Given the description of an element on the screen output the (x, y) to click on. 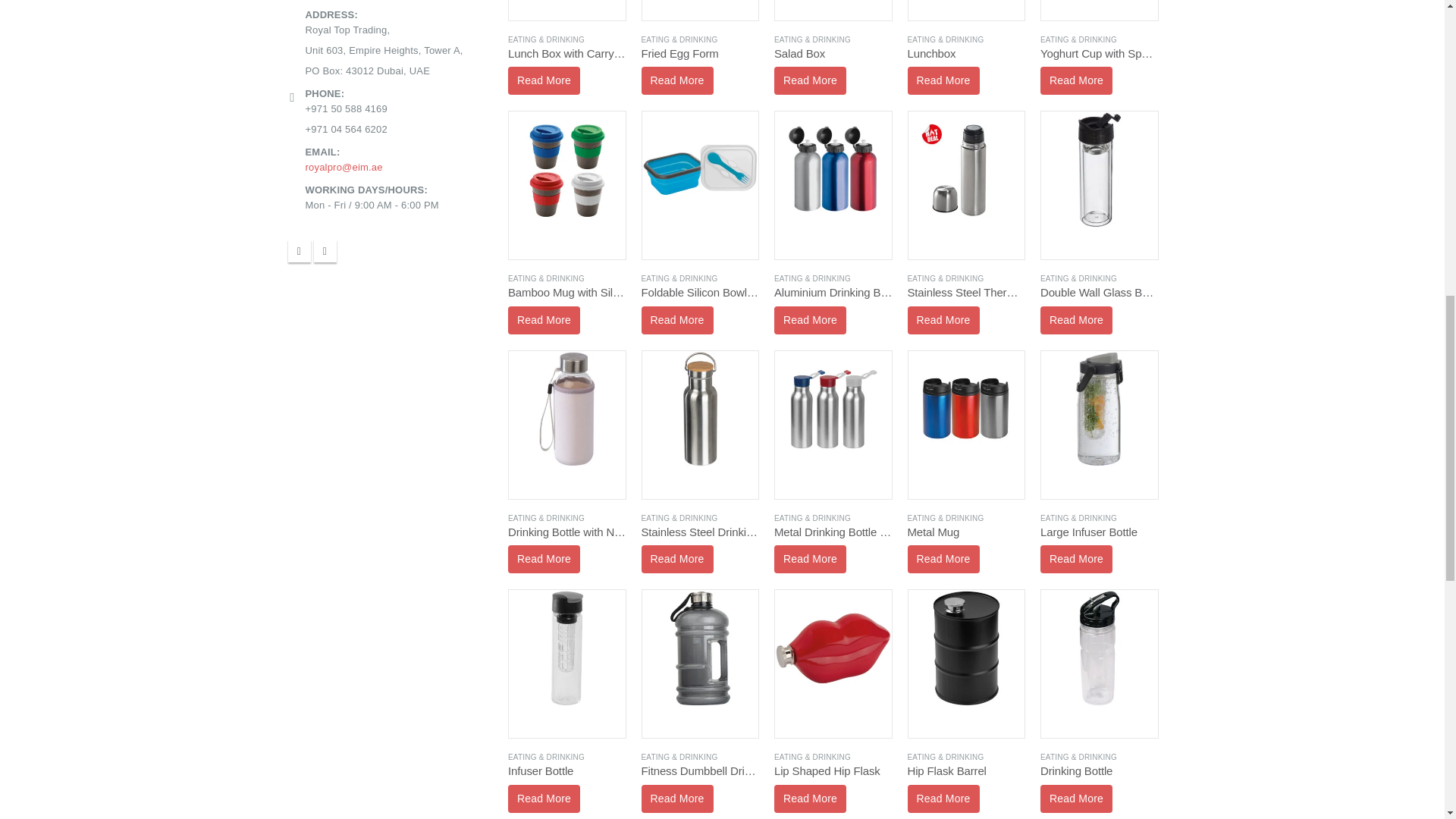
Facebook (299, 250)
Twitter (325, 250)
